Given the description of an element on the screen output the (x, y) to click on. 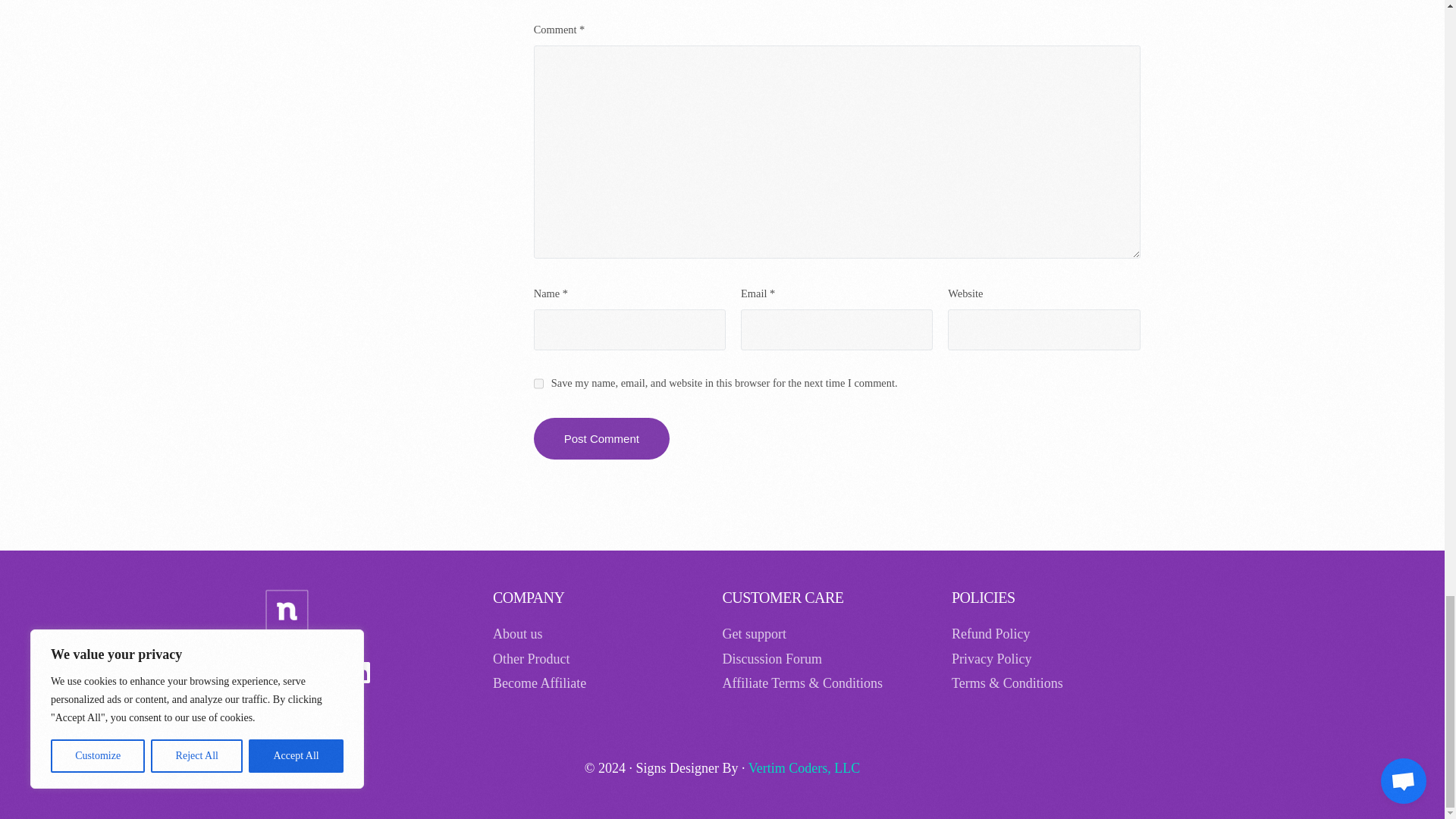
logo-ncpc (285, 610)
Post Comment (601, 438)
Post Comment (601, 438)
Vertim Coders (804, 767)
